Given the description of an element on the screen output the (x, y) to click on. 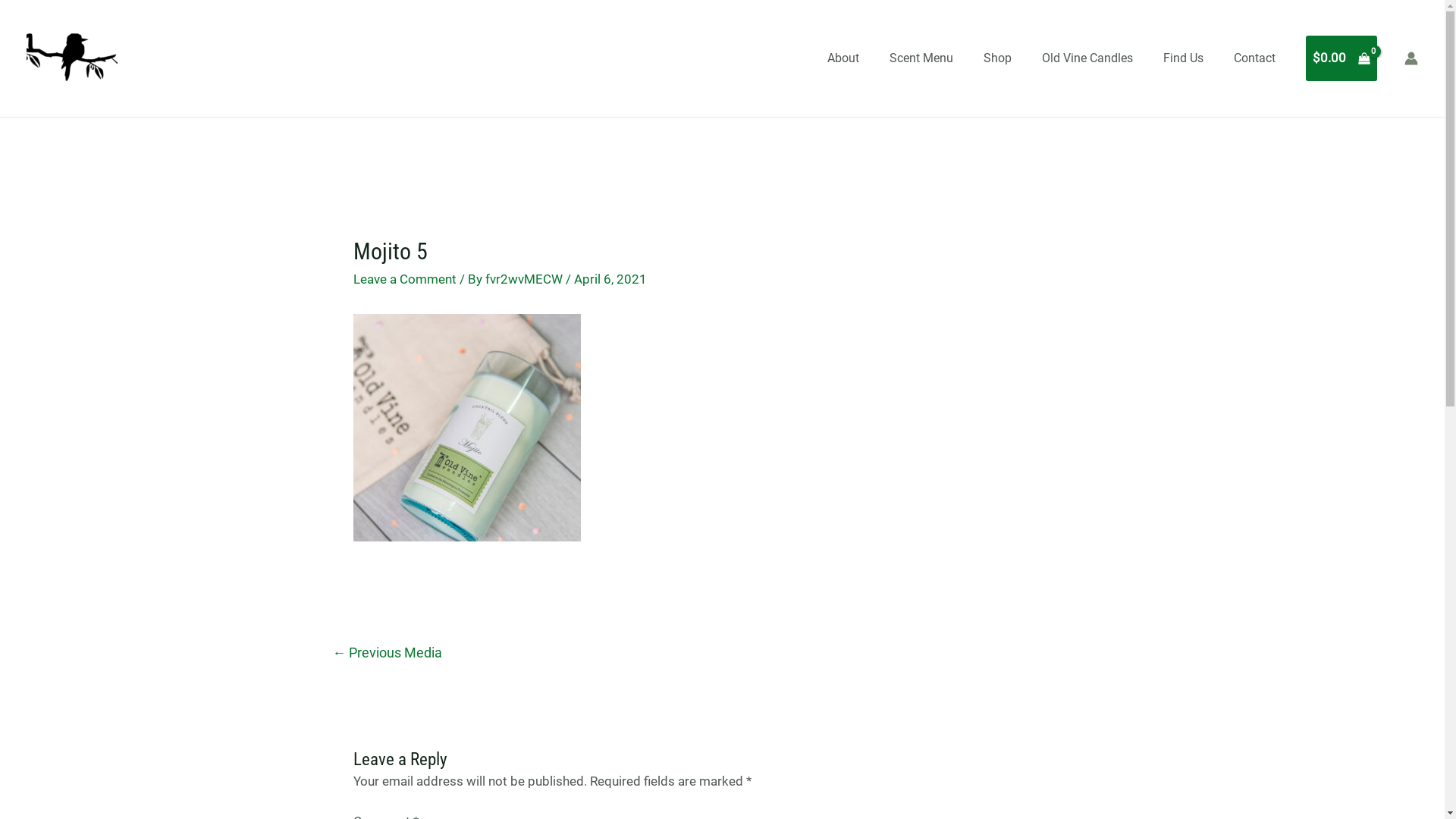
Leave a Comment Element type: text (404, 278)
Old Vine Candles Element type: text (1087, 57)
Shop Element type: text (997, 57)
fvr2wvMECW Element type: text (525, 278)
Find Us Element type: text (1183, 57)
Scent Menu Element type: text (921, 57)
$0.00 Element type: text (1341, 57)
Contact Element type: text (1254, 57)
About Element type: text (843, 57)
